Given the description of an element on the screen output the (x, y) to click on. 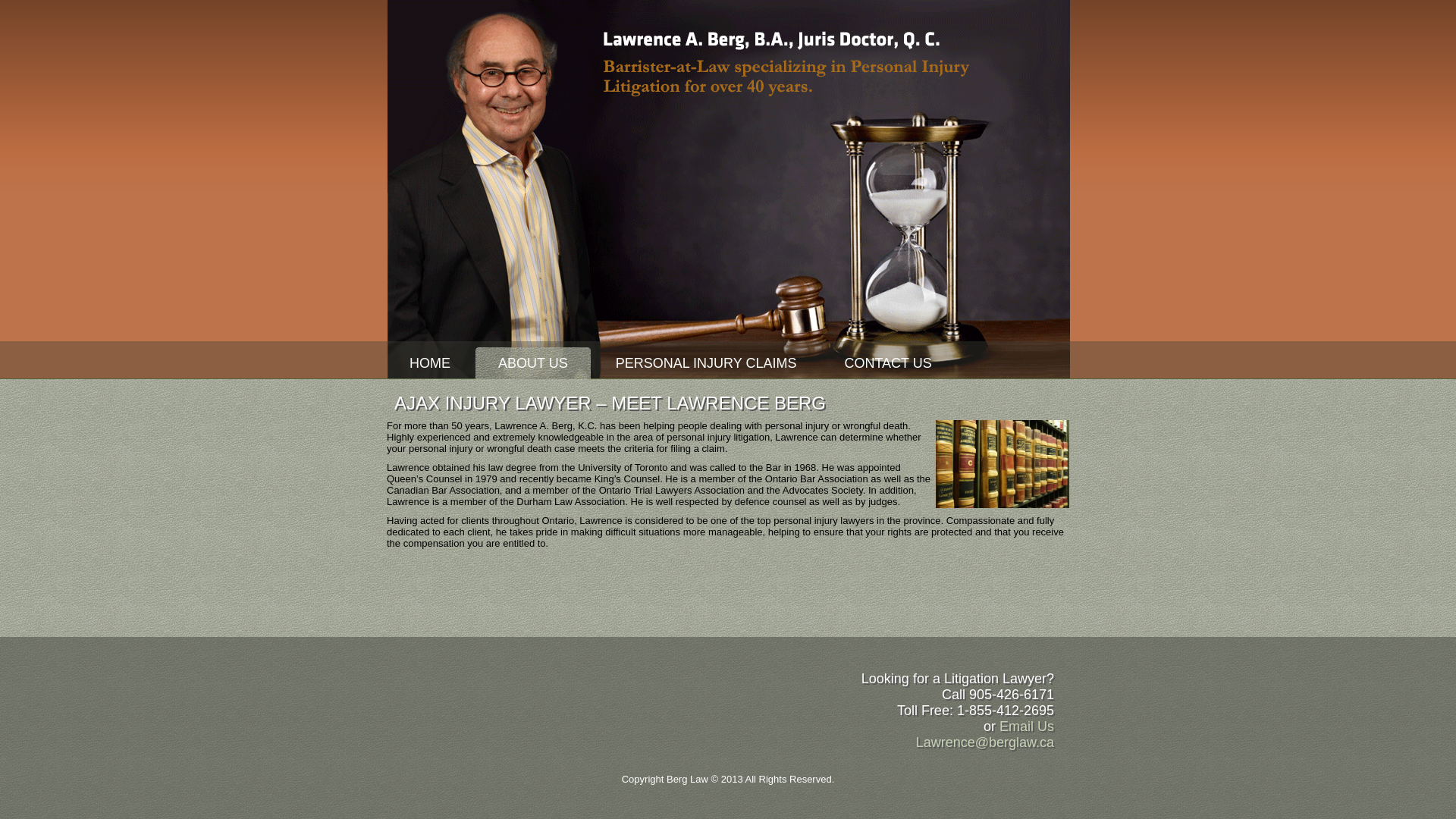
HOME Element type: text (429, 363)
ABOUT US Element type: text (532, 363)
PERSONAL INJURY CLAIMS Element type: text (706, 363)
Email Us
Lawrence@berglaw.ca Element type: text (985, 733)
CONTACT US Element type: text (887, 363)
